Given the description of an element on the screen output the (x, y) to click on. 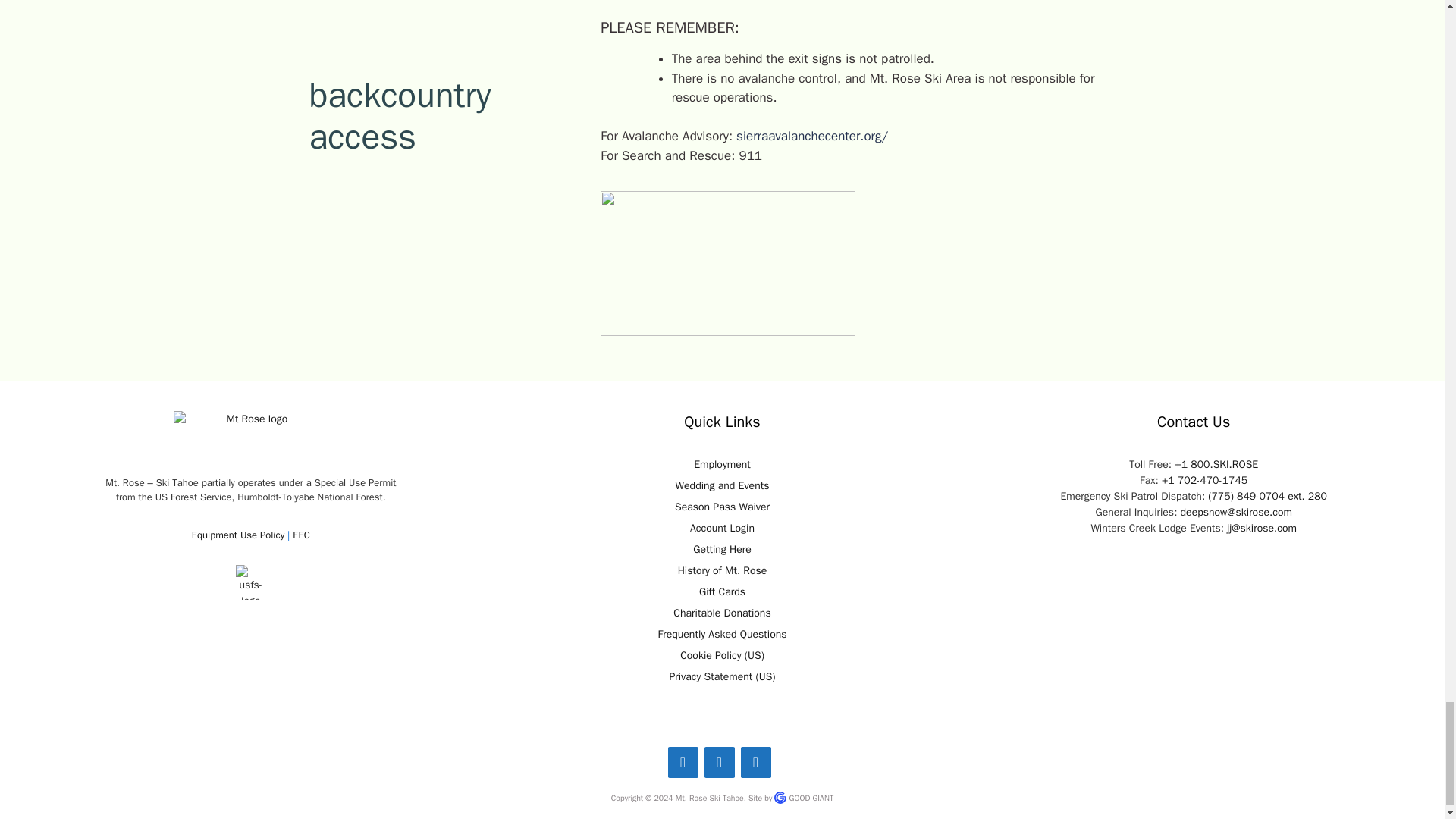
Good Giant marketing agency. (809, 798)
Instagram (718, 762)
Facebook (681, 762)
Twitter (754, 762)
